Given the description of an element on the screen output the (x, y) to click on. 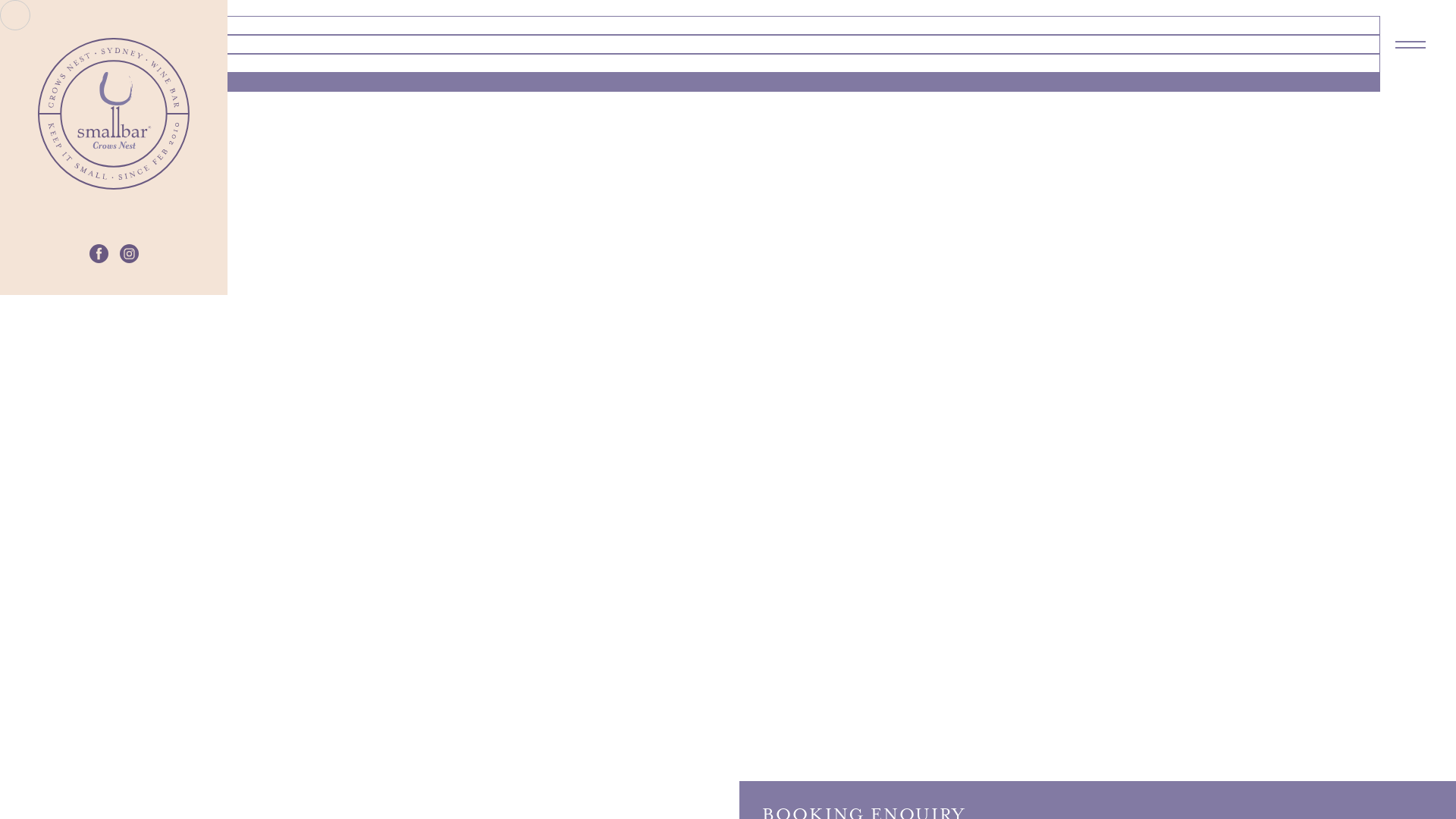
BOOK A TABLE Element type: text (100, 83)
Skip to content Element type: text (0, 0)
GIFT VOUCHER Element type: text (102, 45)
ORDER ONLINE Element type: text (102, 64)
MENUS Element type: text (78, 26)
